Given the description of an element on the screen output the (x, y) to click on. 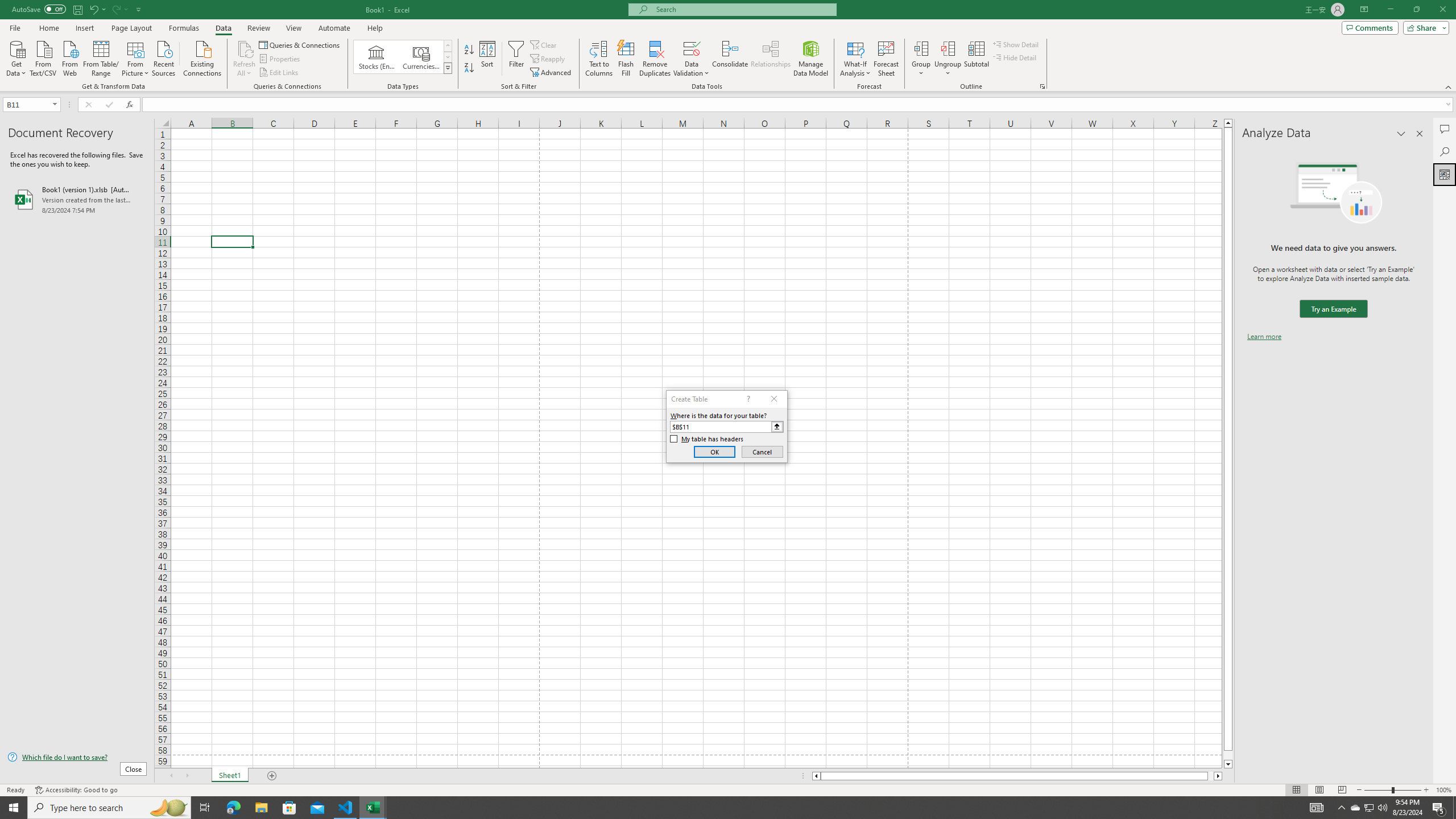
AutomationID: ConvertToLinkedEntity (403, 56)
From Web (69, 57)
Comments (1369, 27)
Text to Columns... (598, 58)
Save (77, 9)
Properties (280, 58)
Data Validation... (691, 58)
Home (48, 28)
Comments (1444, 128)
Recent Sources (163, 57)
Consolidate... (729, 58)
Help (374, 28)
Group... (921, 48)
